Given the description of an element on the screen output the (x, y) to click on. 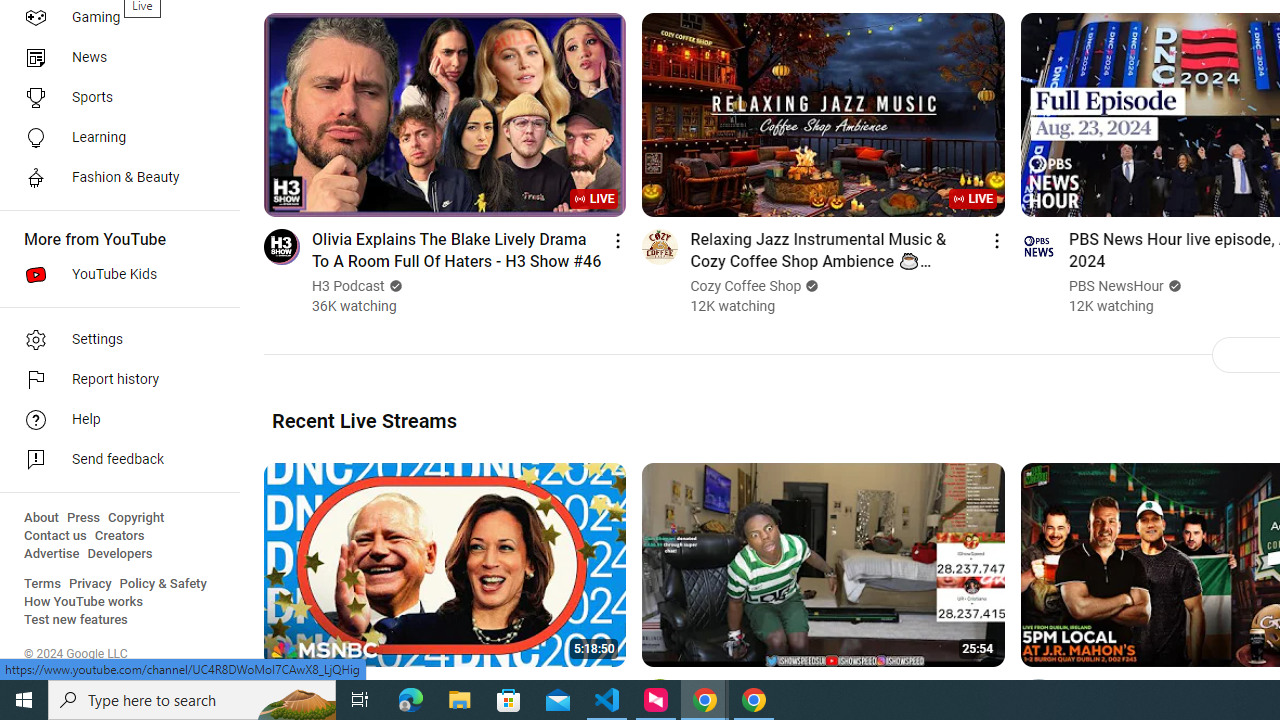
Press (83, 518)
Terms (42, 584)
Test new features (76, 620)
Developers (120, 554)
Policy & Safety (163, 584)
YouTube Kids (113, 274)
Report history (113, 380)
Action menu (996, 690)
H3 Podcast (349, 285)
Help (113, 419)
Go to channel (1038, 696)
Learning (113, 137)
Privacy (89, 584)
Advertise (51, 554)
